Given the description of an element on the screen output the (x, y) to click on. 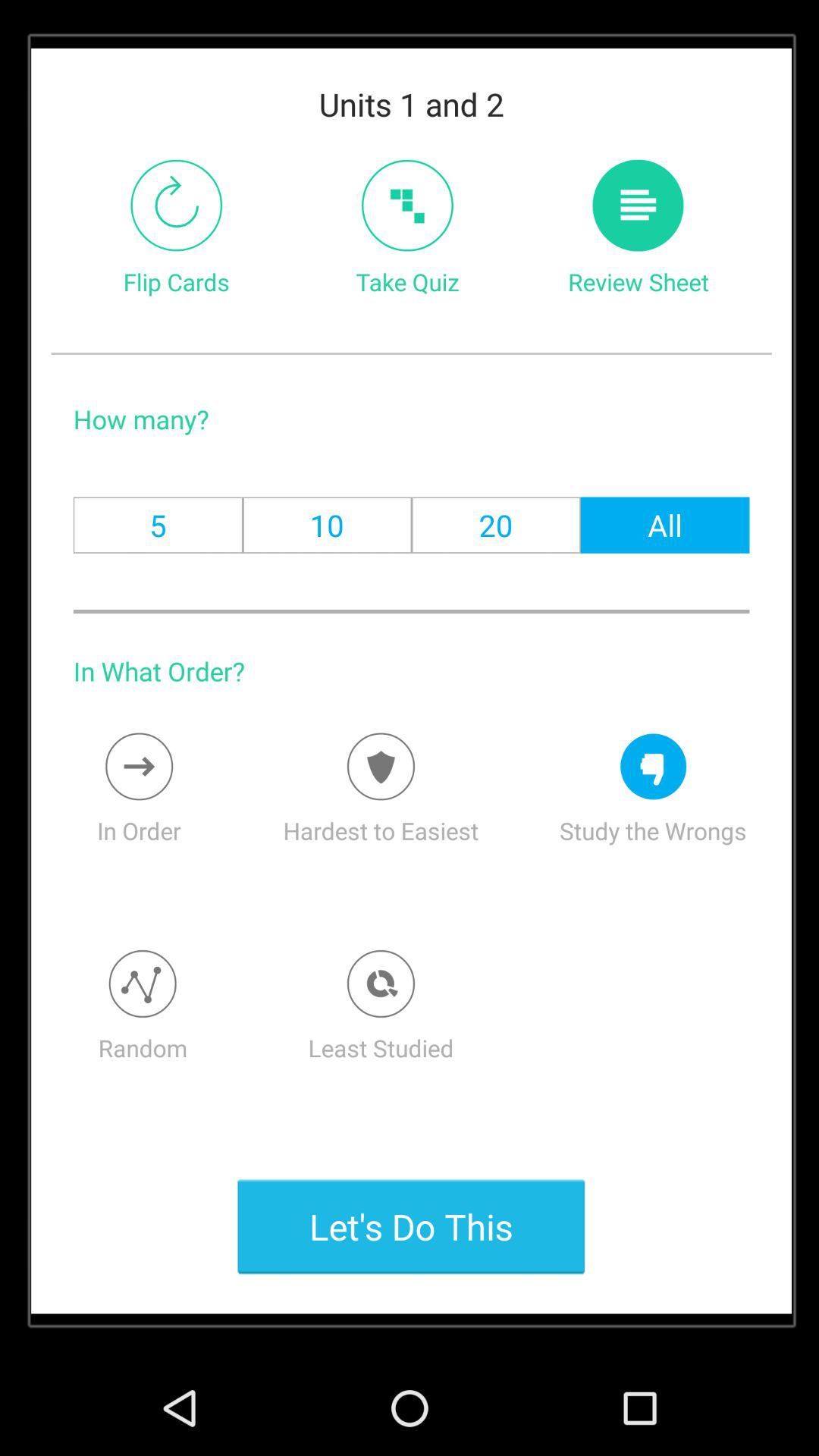
scroll until let s do icon (410, 1226)
